Given the description of an element on the screen output the (x, y) to click on. 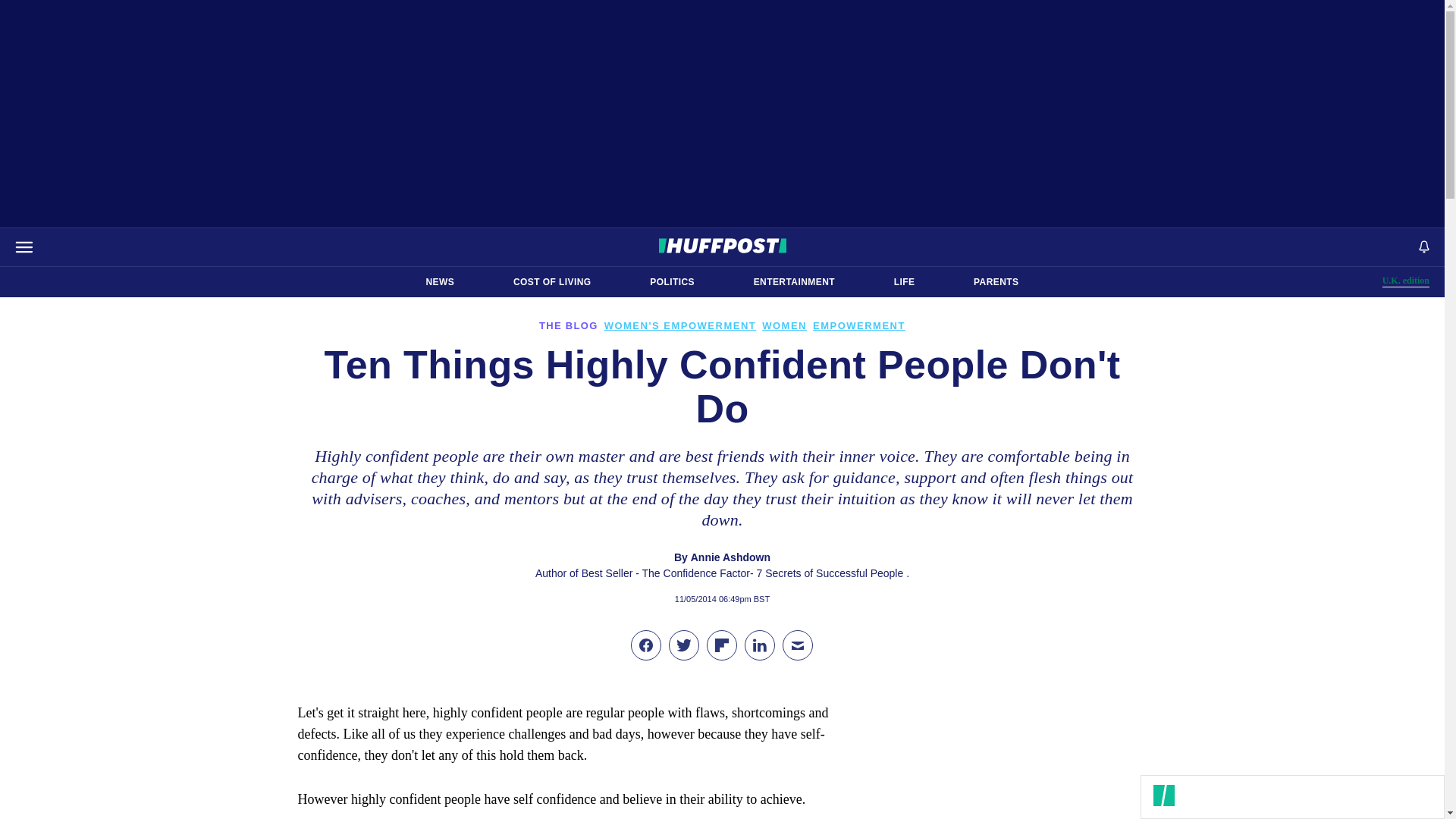
LIFE (904, 281)
COST OF LIVING (552, 281)
PARENTS (995, 281)
NEWS (1405, 281)
ENTERTAINMENT (440, 281)
POLITICS (794, 281)
